Given the description of an element on the screen output the (x, y) to click on. 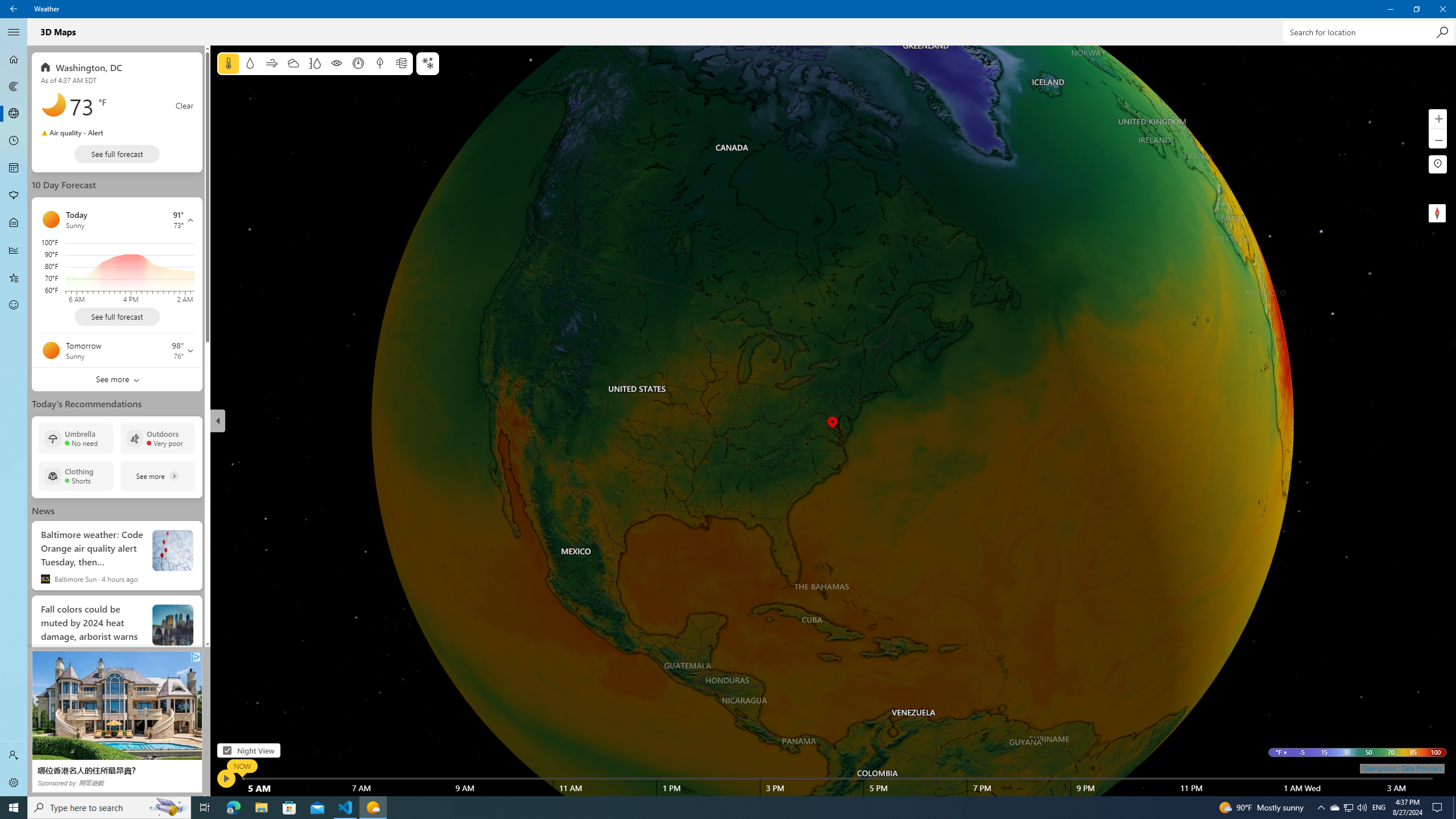
Restore Weather (1416, 9)
Search (1442, 31)
Send Feedback - Not Selected (13, 304)
Life - Not Selected (13, 222)
Forecast - Not Selected (13, 58)
Weather - 1 running window (373, 807)
Maps - Not Selected (13, 85)
Settings (13, 782)
Monthly Forecast - Not Selected (13, 167)
3D Maps - Not Selected (13, 113)
